Given the description of an element on the screen output the (x, y) to click on. 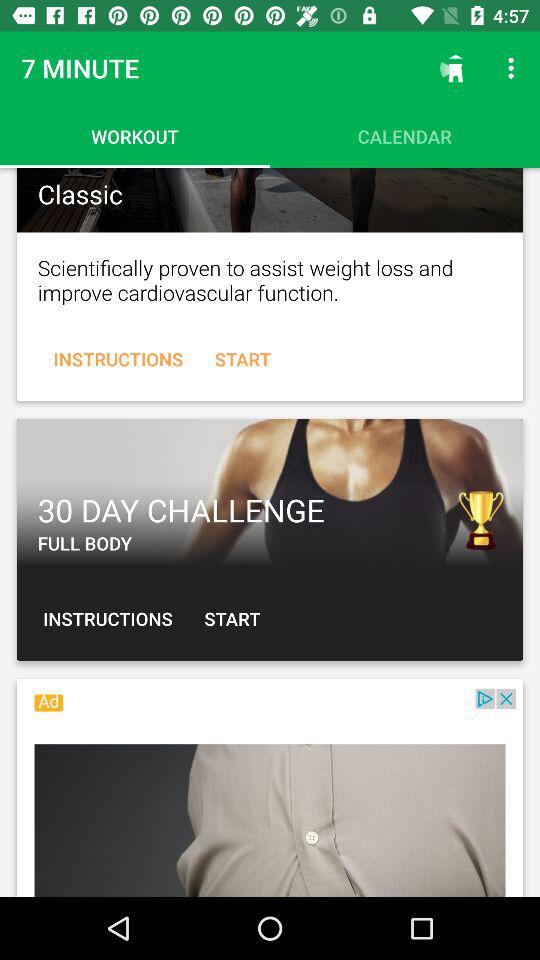
go to website advertisement (270, 793)
